Given the description of an element on the screen output the (x, y) to click on. 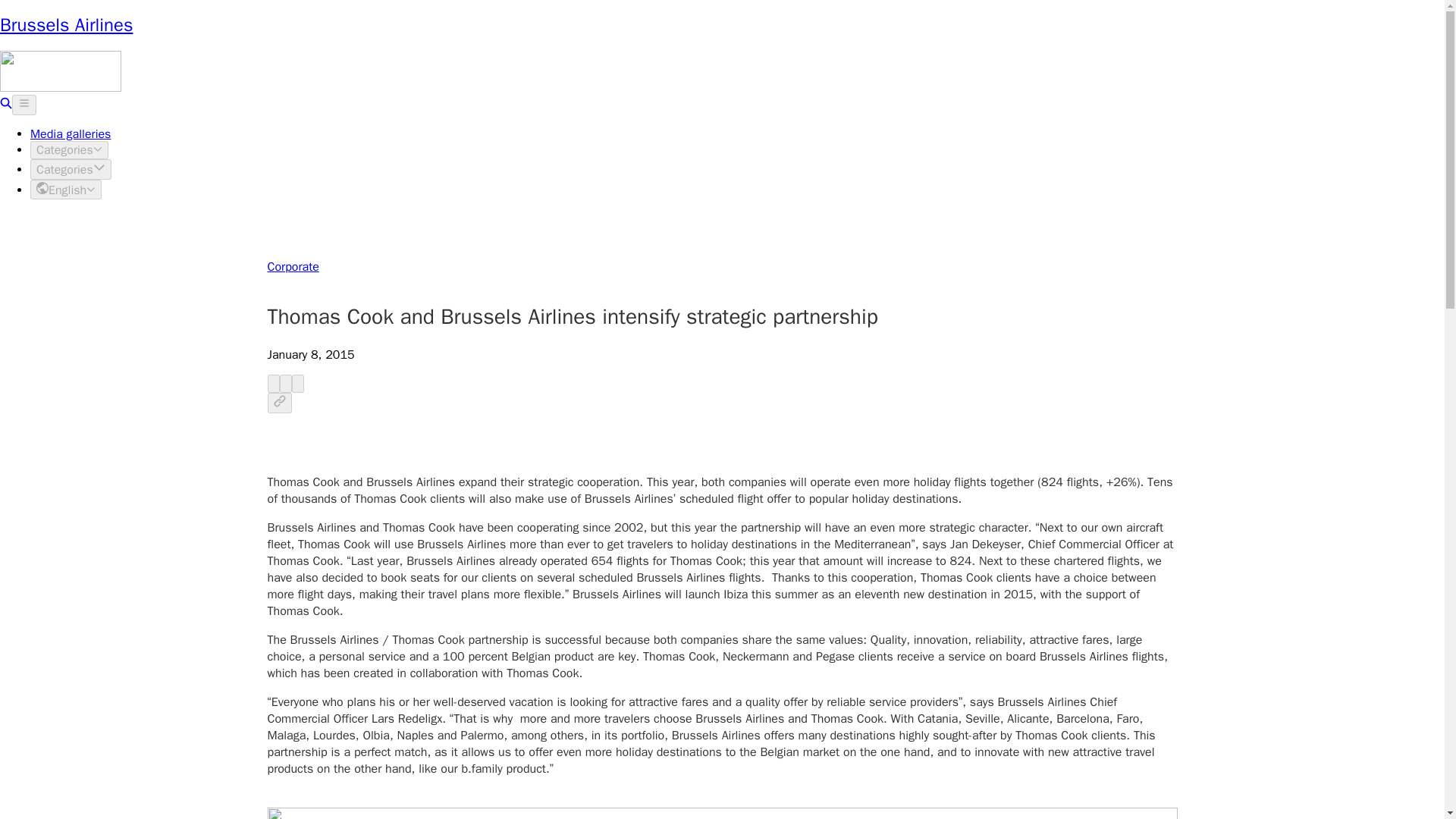
Toggle navigation (23, 104)
Corporate (292, 266)
Categories (68, 149)
Categories (71, 168)
English (65, 189)
Media galleries (70, 133)
Copy URL (278, 402)
